Given the description of an element on the screen output the (x, y) to click on. 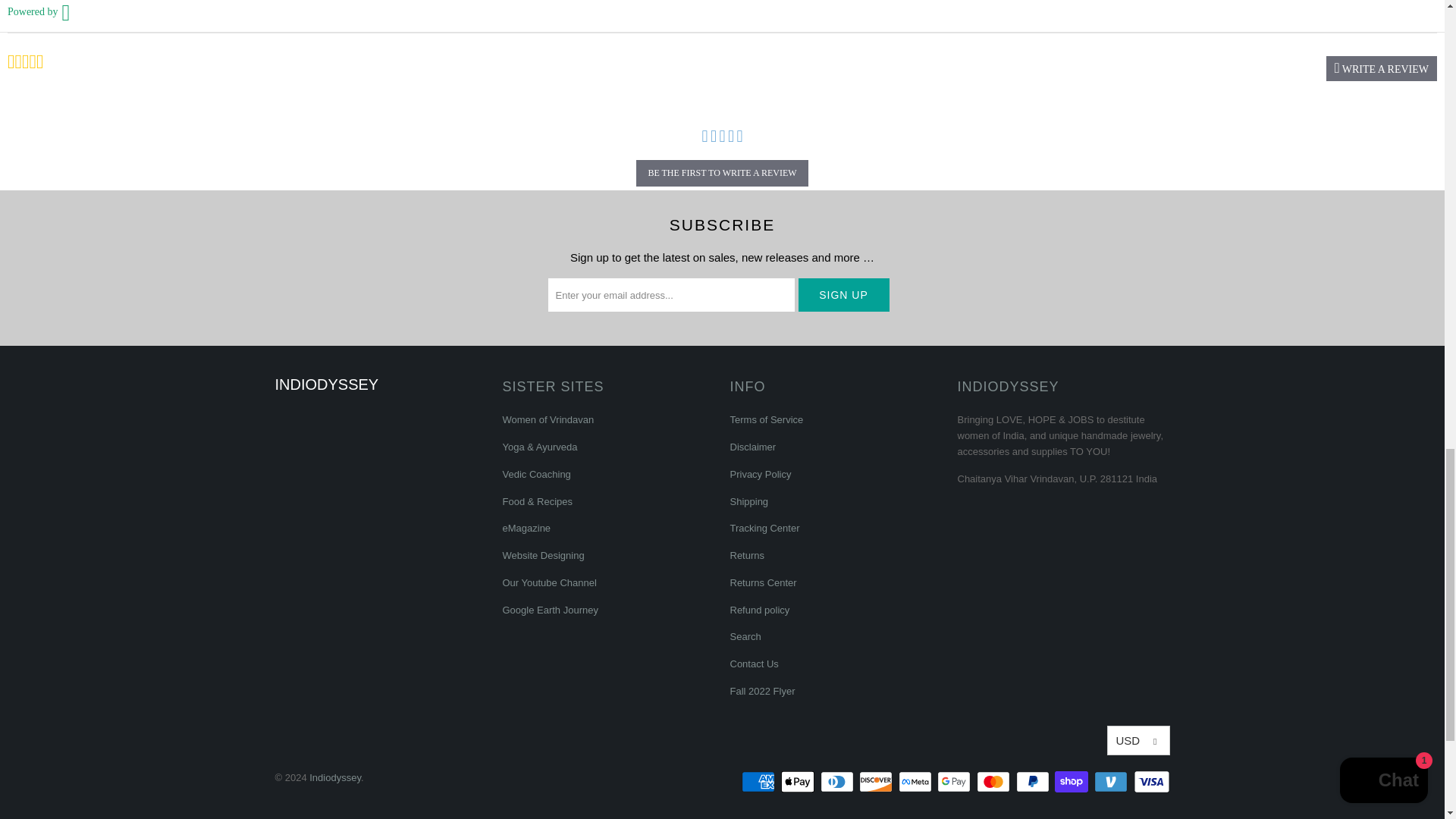
Google Pay (955, 781)
Discover (877, 781)
PayPal (1034, 781)
Diners Club (839, 781)
Mastercard (994, 781)
Visa (1150, 781)
American Express (759, 781)
Venmo (1112, 781)
Sign Up (842, 295)
Shop Pay (1072, 781)
Apple Pay (798, 781)
Meta Pay (916, 781)
